Given the description of an element on the screen output the (x, y) to click on. 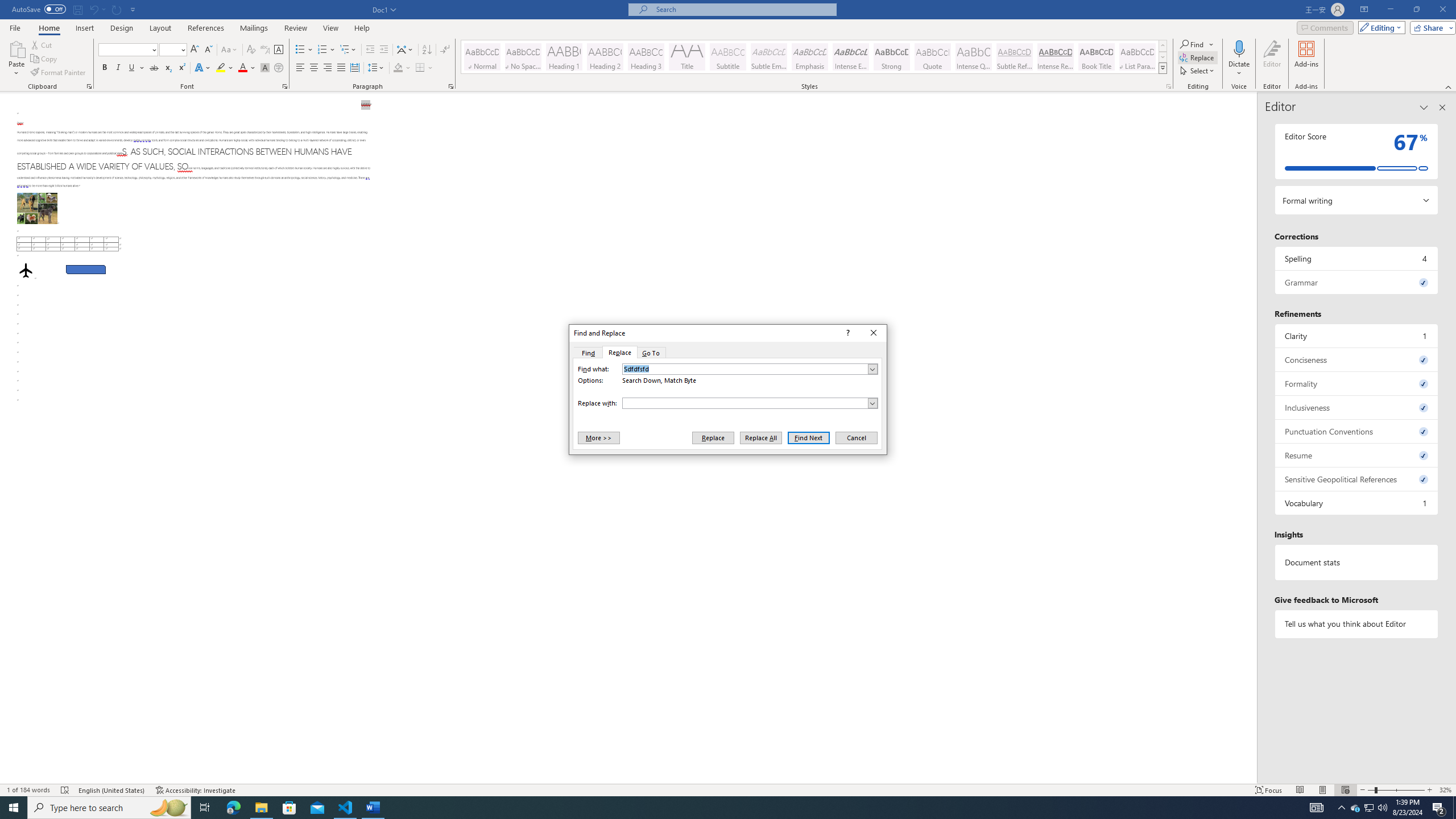
RichEdit Control (745, 403)
Airplane with solid fill (25, 270)
Intense Reference (1055, 56)
Rectangle: Diagonal Corners Snipped 2 (85, 269)
Font Color Red (241, 67)
Spelling, 4 issues. Press space or enter to review items. (1356, 258)
